Given the description of an element on the screen output the (x, y) to click on. 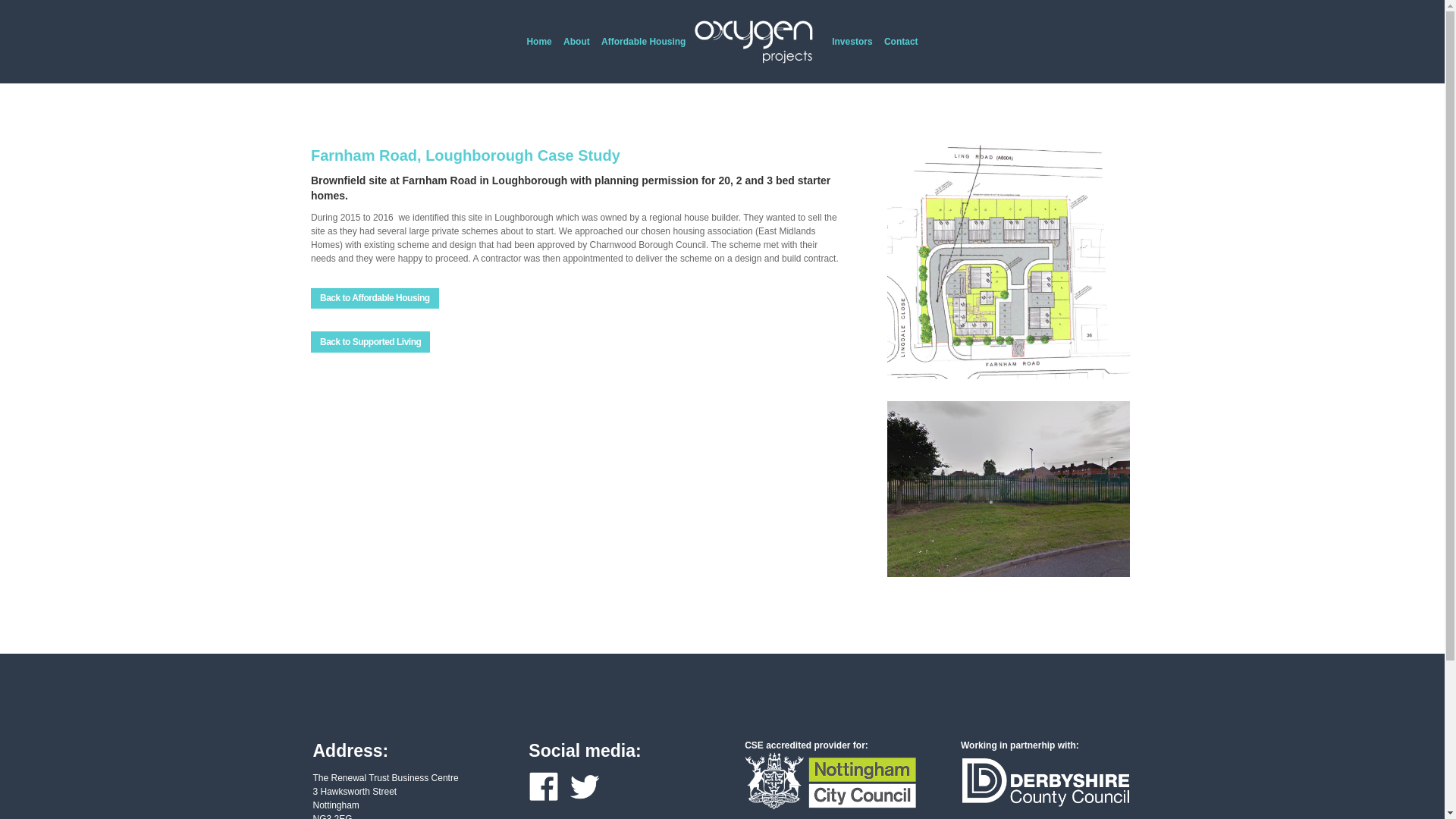
Back to Affordable Housing (375, 298)
Affordable Housing (643, 59)
Back to Supported Living (370, 341)
